Given the description of an element on the screen output the (x, y) to click on. 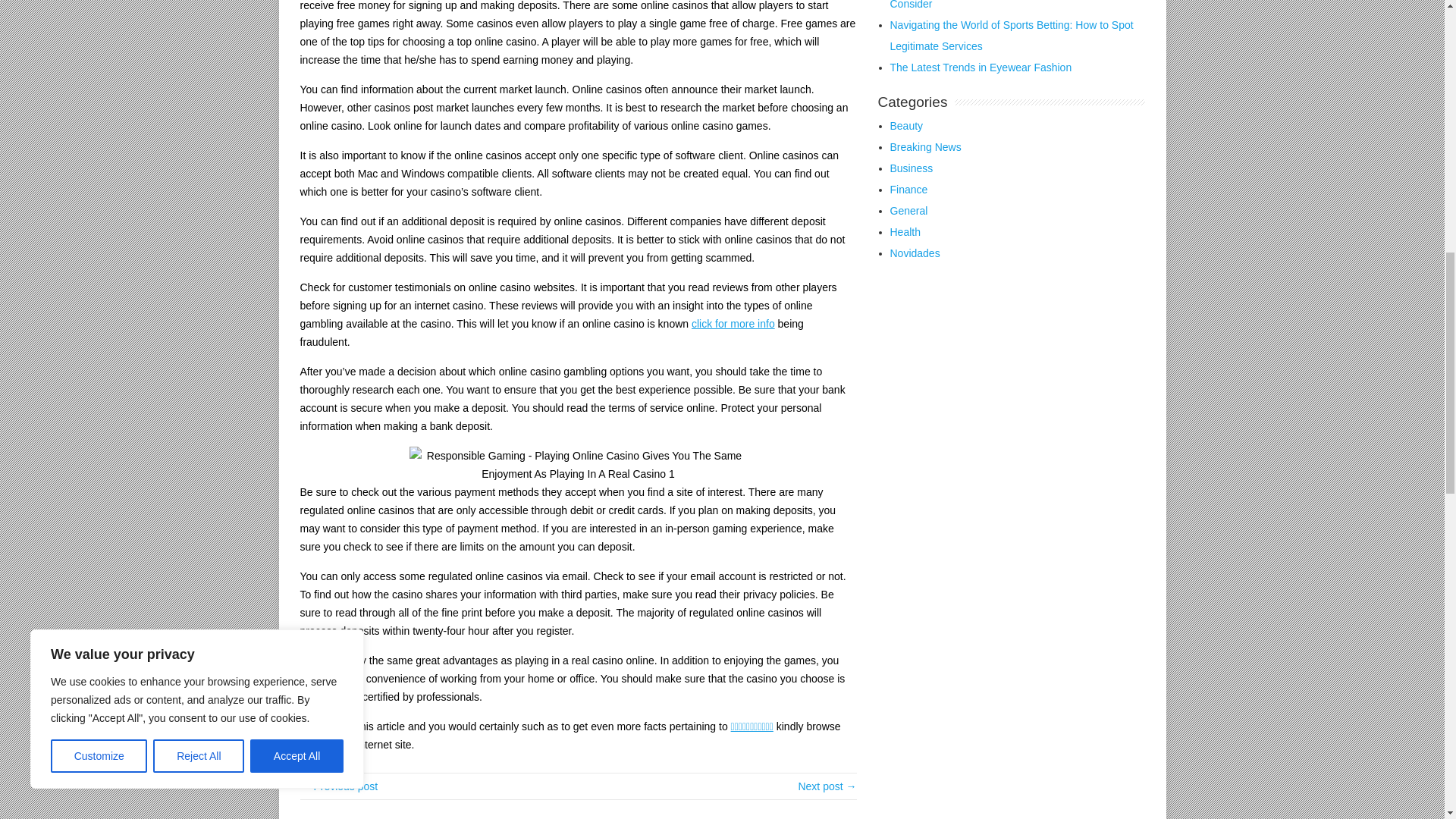
How To Find Online Casino Reviews (826, 786)
click for more info (732, 323)
